Given the description of an element on the screen output the (x, y) to click on. 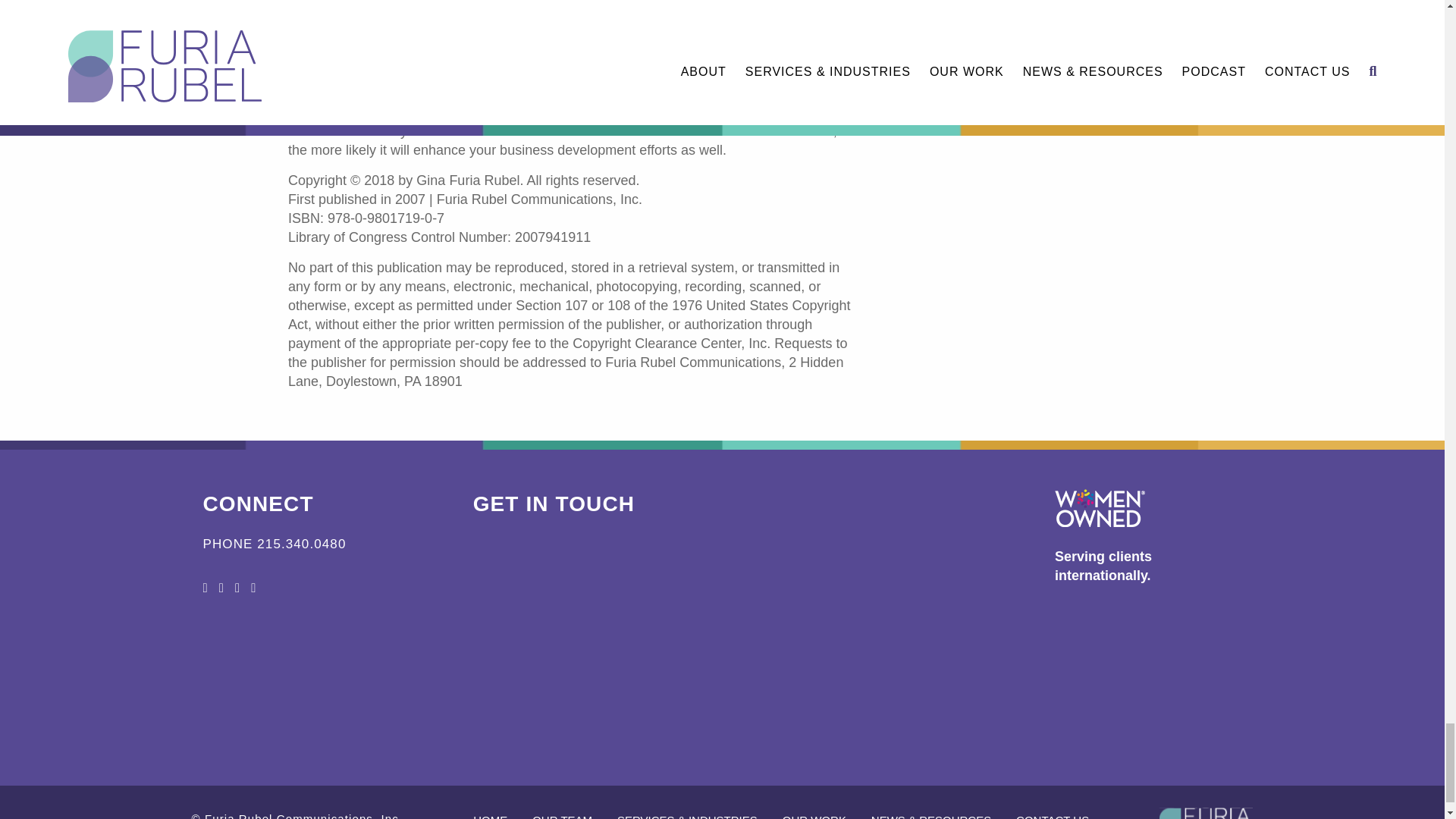
Form 0 (722, 654)
